Given the description of an element on the screen output the (x, y) to click on. 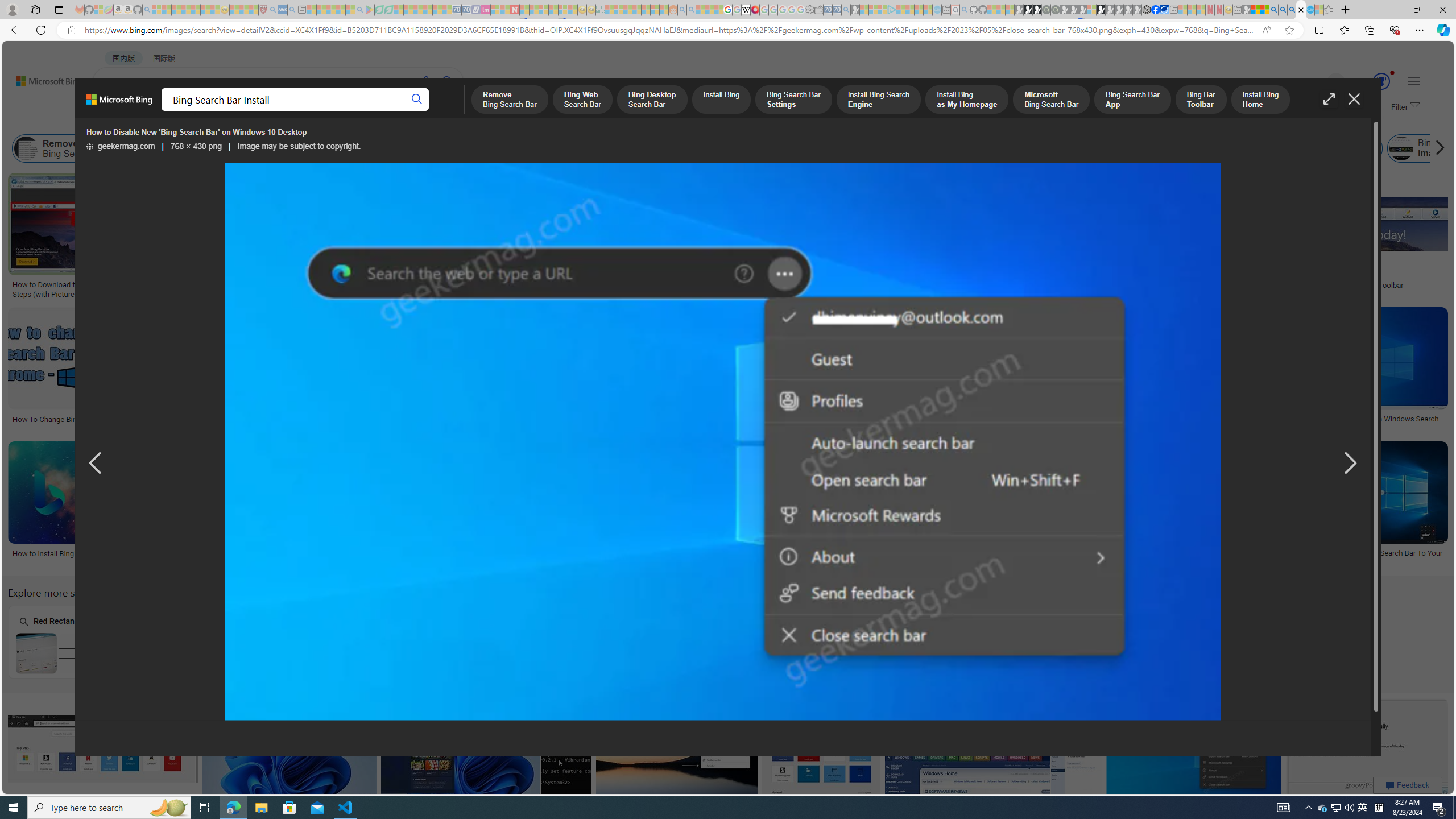
Red Rectangle Bing Search Bar Red Rectangle (78, 642)
How to Disable New 'Bing Search Bar' on Windows 10 Desktop (722, 441)
How to Disable New 'Bing Search Bar' on Windows 10 Desktop (719, 132)
Download Bing Bar, the new Bing ToolbarSave (1356, 237)
Install Bing In Windows 10 - Image to u (250, 552)
Related ProductsT-ShirtsMugsStickers (706, 237)
Bing Bar Toolbar (1014, 148)
